Given the description of an element on the screen output the (x, y) to click on. 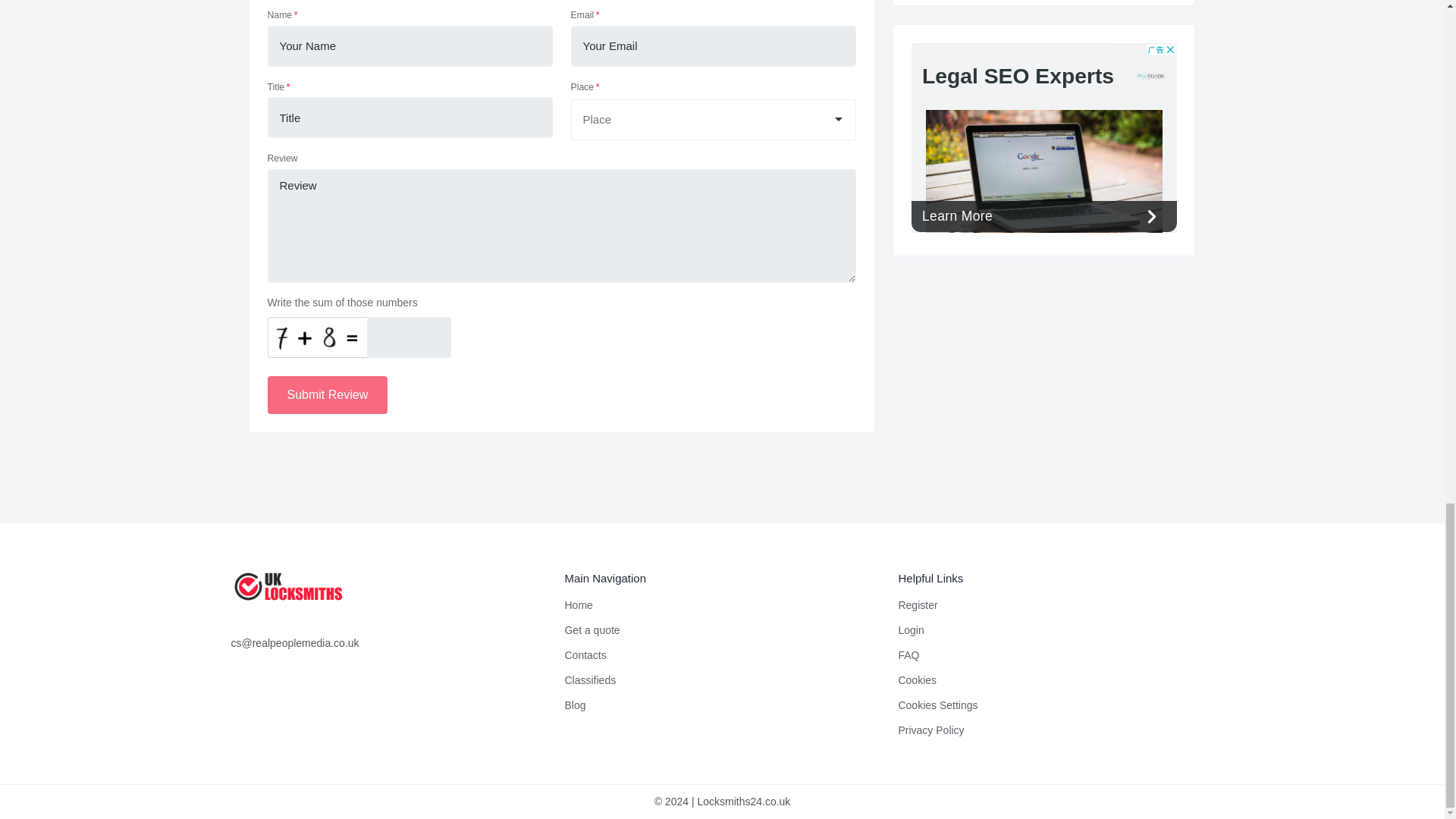
Contacts (584, 654)
Home (578, 604)
Classifieds (589, 680)
Privacy Policy (930, 729)
Cookies (917, 680)
Get a quote (592, 630)
Register (917, 604)
FAQ (908, 654)
Submit Review (326, 394)
Blog (574, 705)
